Given the description of an element on the screen output the (x, y) to click on. 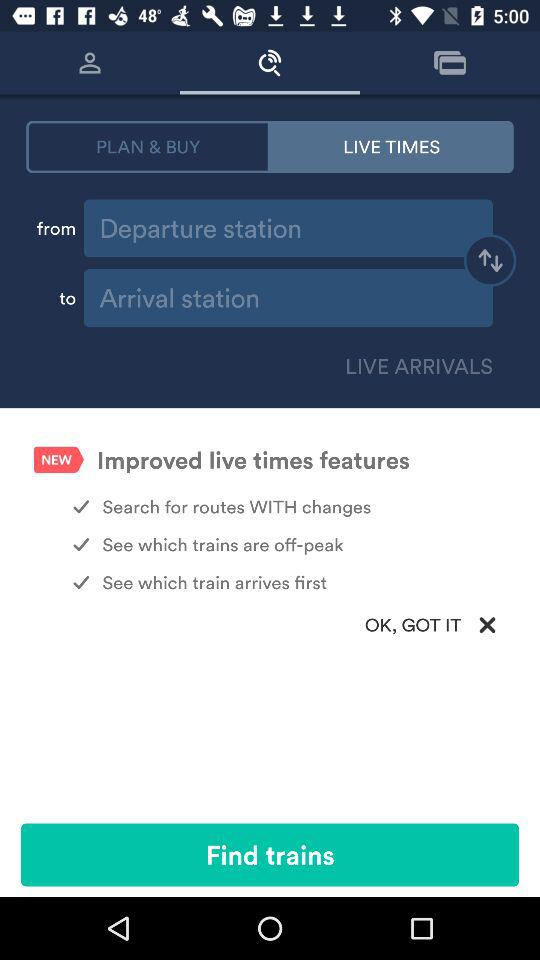
turn on icon below the see which train (269, 624)
